Given the description of an element on the screen output the (x, y) to click on. 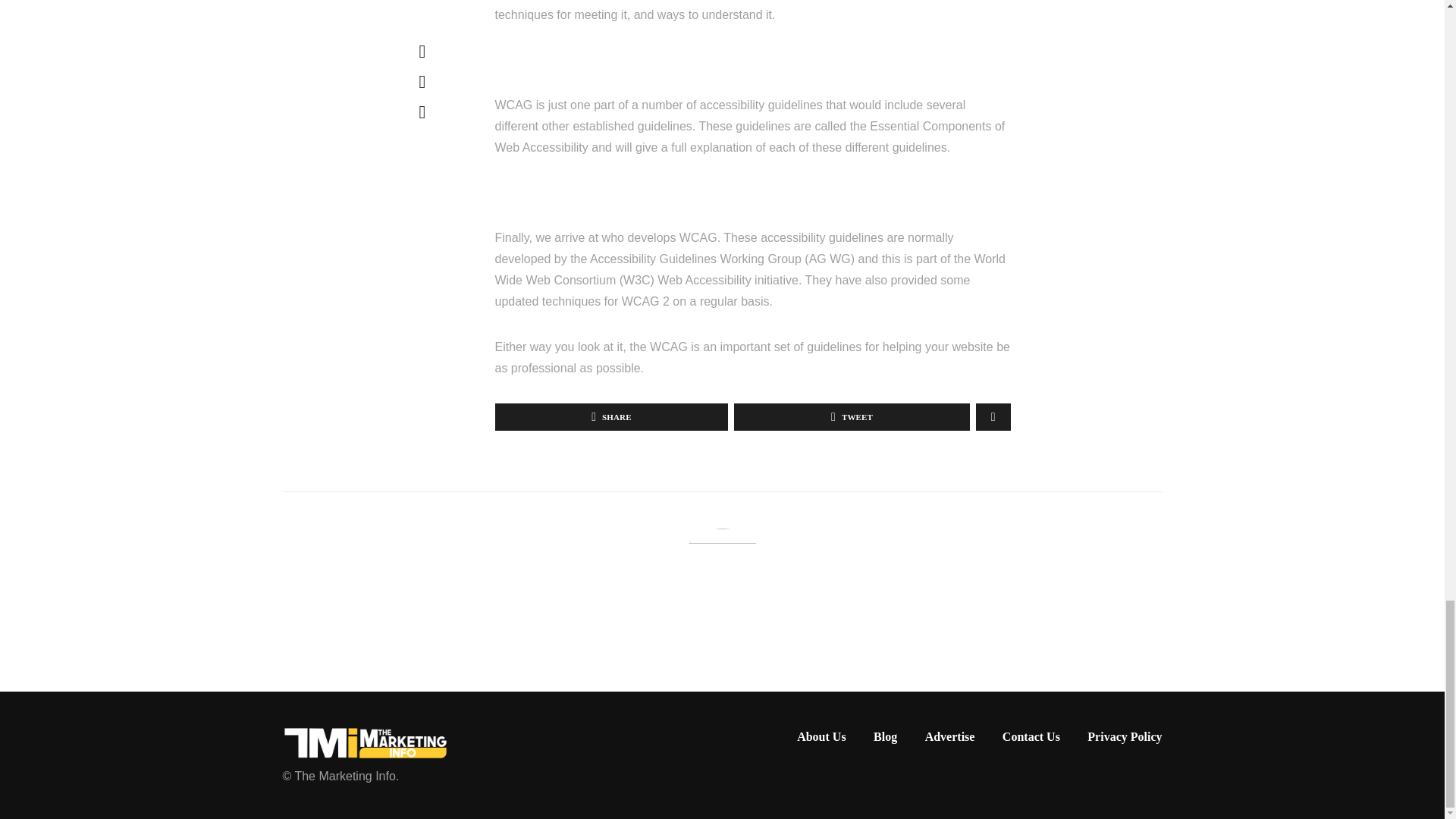
SHARE (611, 416)
TWEET (851, 416)
